Given the description of an element on the screen output the (x, y) to click on. 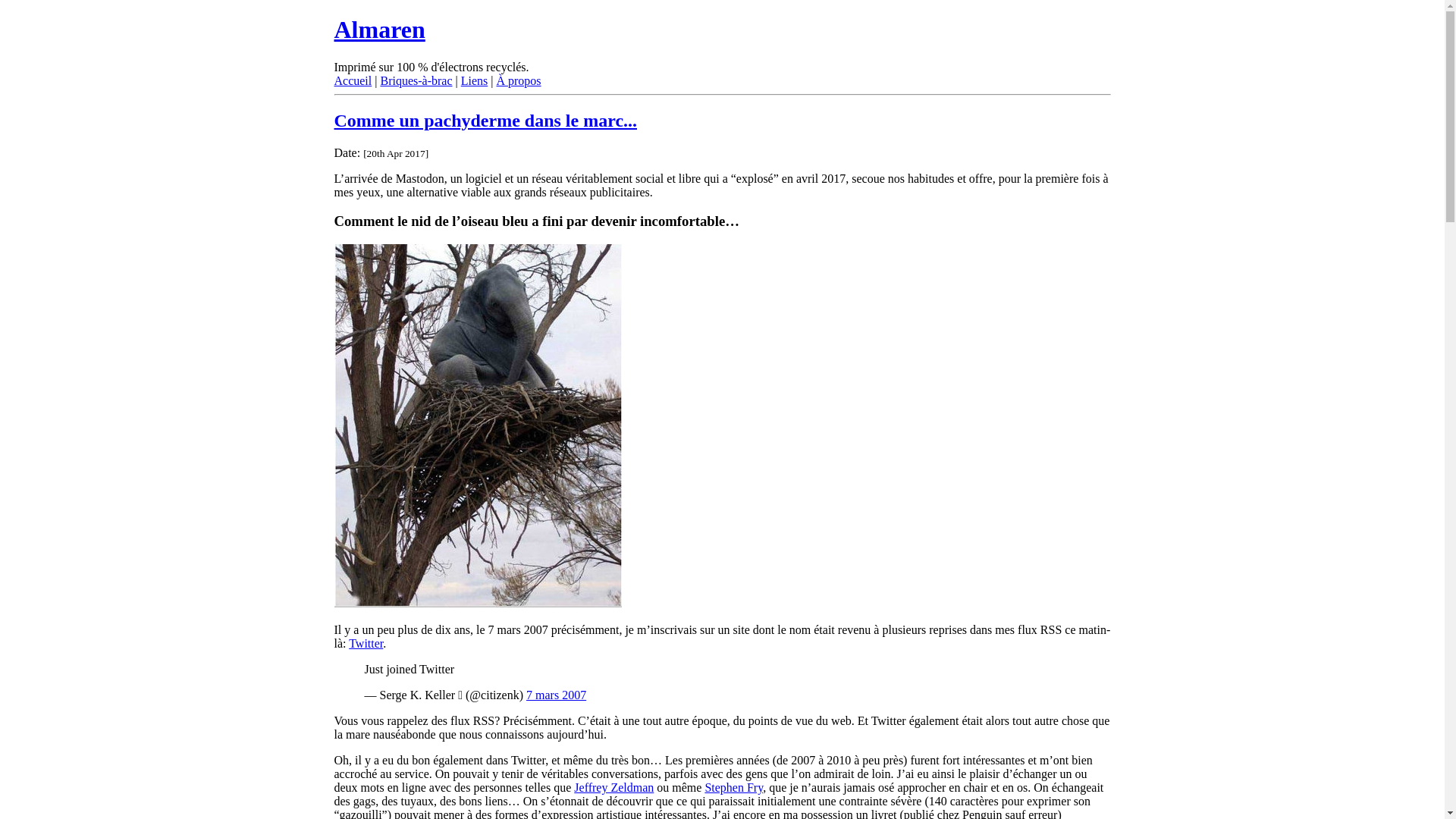
7 mars 2007 Element type: text (556, 694)
Almaren Element type: text (378, 29)
Accueil Element type: text (352, 80)
Jeffrey Zeldman Element type: text (613, 787)
Liens Element type: text (474, 80)
Twitter Element type: text (365, 643)
Stephen Fry Element type: text (733, 787)
Comme un pachyderme dans le marc... Element type: text (485, 120)
